Given the description of an element on the screen output the (x, y) to click on. 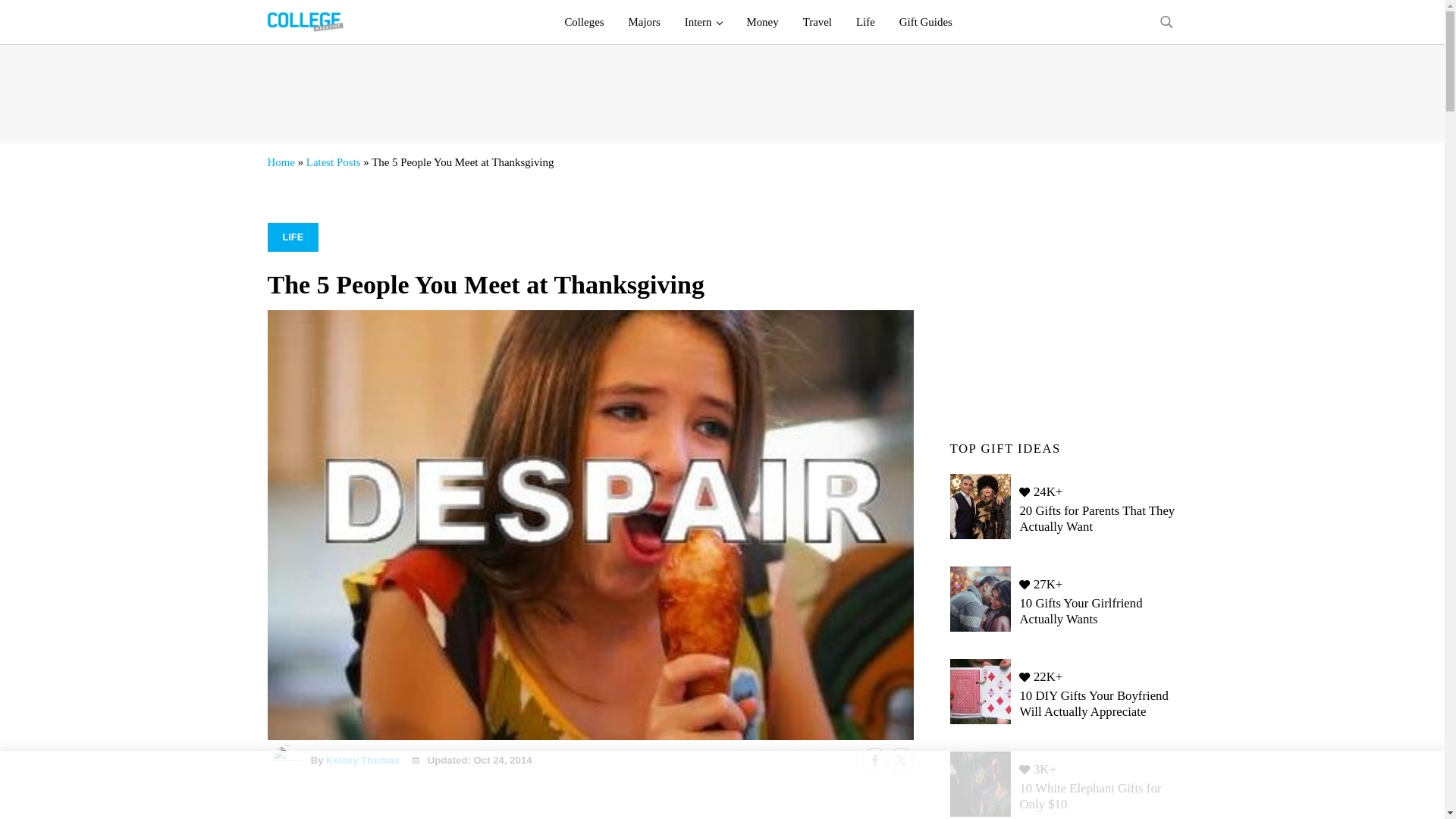
Money (761, 21)
Gift Guides (924, 21)
Share on Facebook (873, 760)
Share on Twitter (899, 760)
Colleges (583, 21)
Intern (703, 21)
Majors (643, 21)
Travel (817, 21)
Life (865, 21)
